Given the description of an element on the screen output the (x, y) to click on. 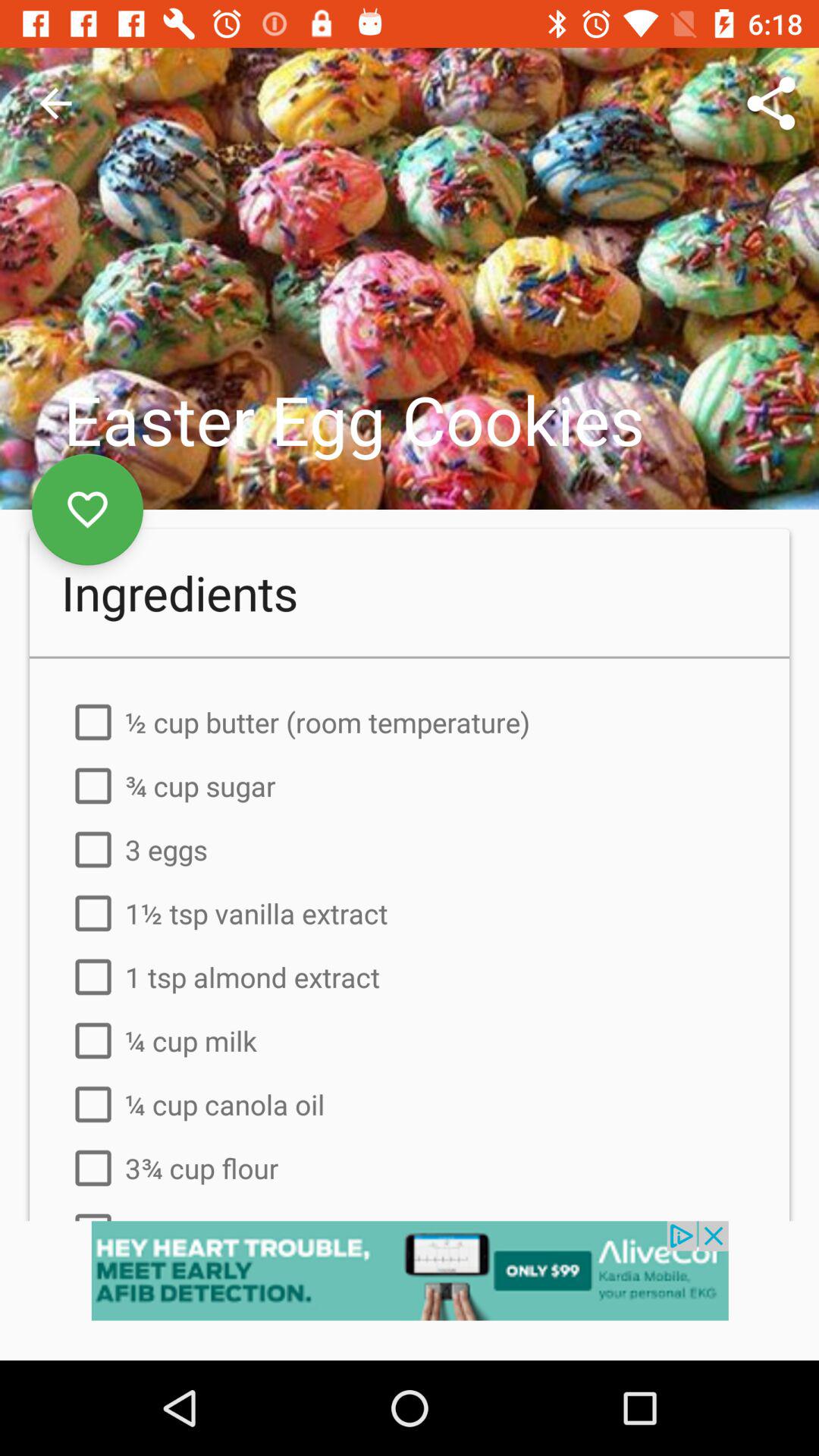
advertisement (409, 1290)
